Given the description of an element on the screen output the (x, y) to click on. 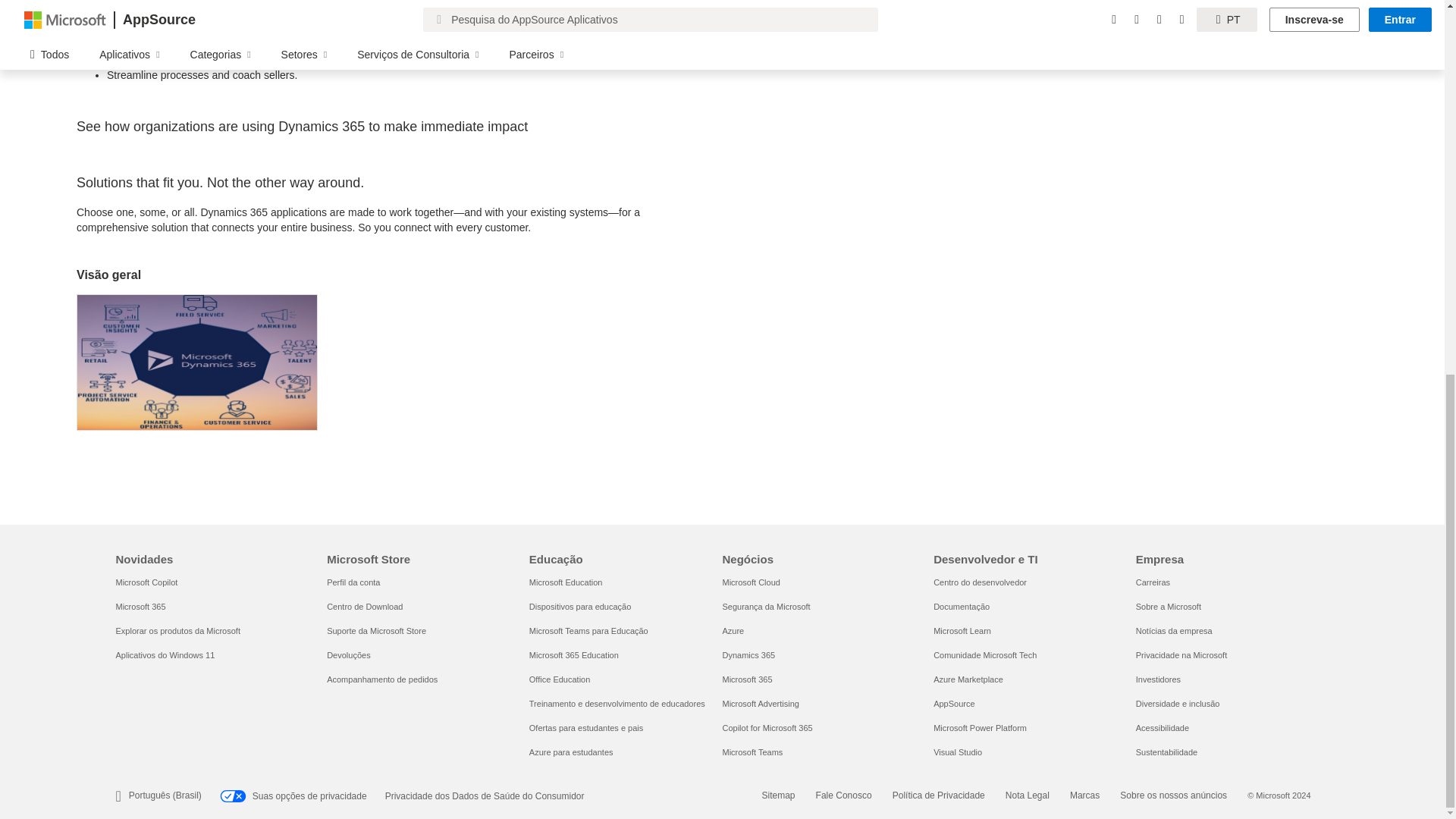
Office Education (560, 678)
Ofertas para estudantes e pais (586, 727)
Microsoft 365 (140, 605)
Microsoft Education (565, 582)
Treinamento e desenvolvimento de educadores (616, 703)
Microsoft 365 Education (573, 655)
Acompanhamento de pedidos (382, 678)
Aplicativos do Windows 11 (164, 655)
Suporte da Microsoft Store (376, 630)
Explorar os produtos da Microsoft (177, 630)
